Given the description of an element on the screen output the (x, y) to click on. 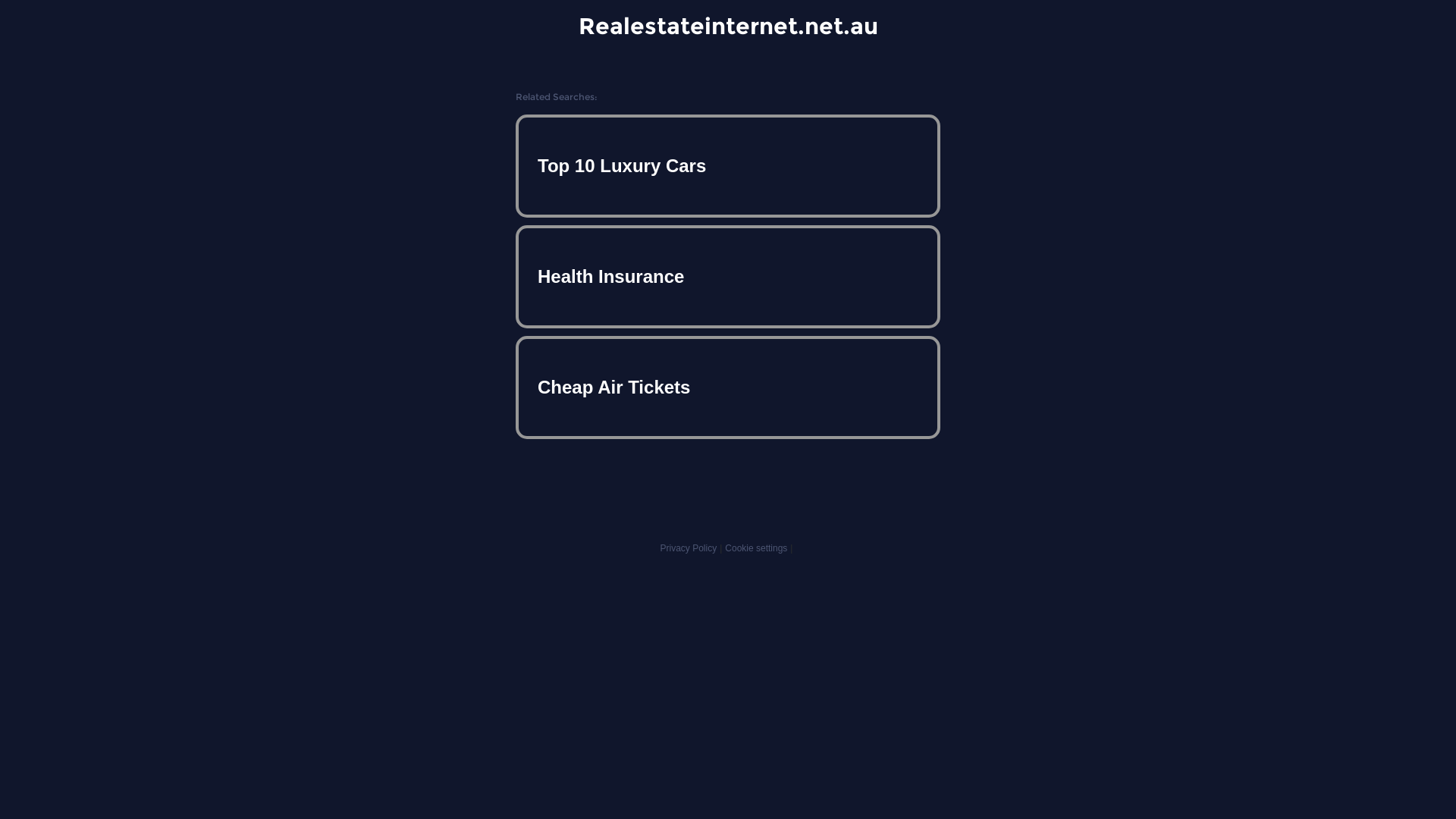
Health Insurance Element type: text (727, 276)
Cookie settings Element type: text (755, 547)
Top 10 Luxury Cars Element type: text (727, 165)
Cheap Air Tickets Element type: text (727, 387)
Realestateinternet.net.au Element type: text (727, 26)
Privacy Policy Element type: text (687, 547)
